Given the description of an element on the screen output the (x, y) to click on. 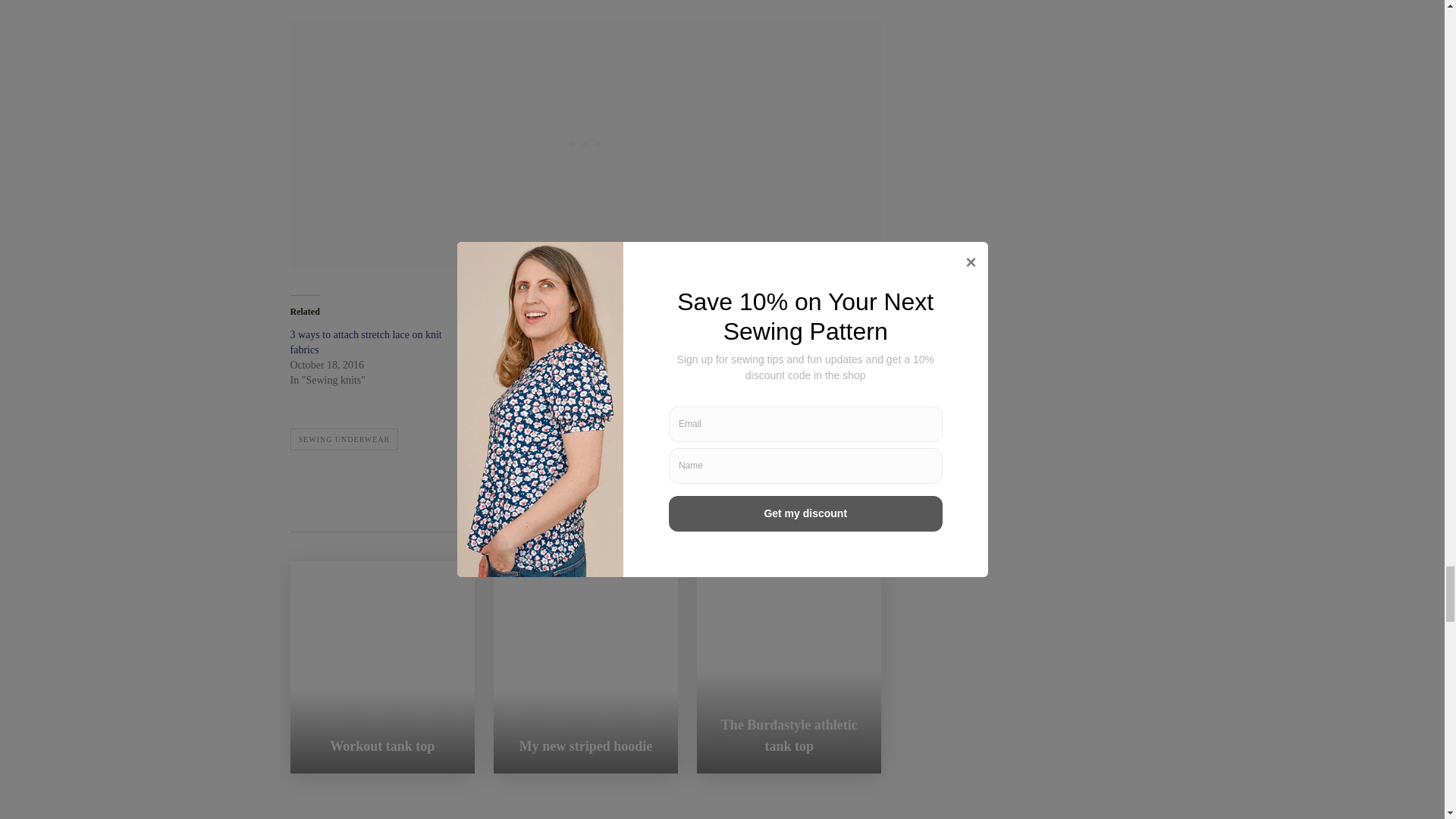
Clothes I sewed in 2016: October to December (755, 342)
3 ways to attach stretch lace on knit fabrics (365, 342)
Burdastyle 2017-08-106 pleated skirt (563, 334)
